Given the description of an element on the screen output the (x, y) to click on. 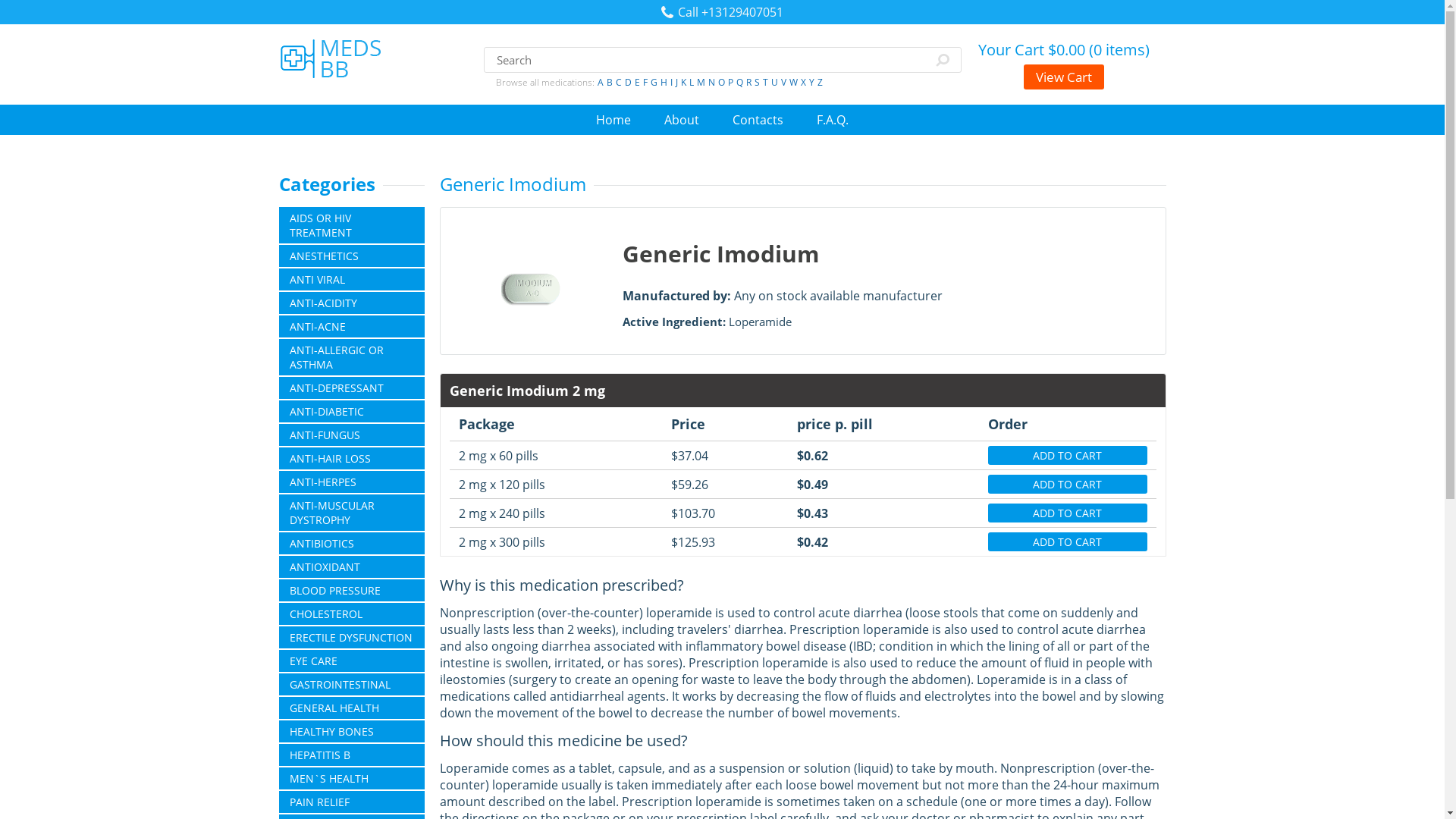
ANTI-ACIDITY (352, 302)
View Cart (1063, 76)
Contacts (757, 119)
F.A.Q. (832, 119)
AIDS OR HIV TREATMENT (352, 225)
About (680, 119)
ANESTHETICS (352, 255)
ANTI VIRAL (352, 279)
Home (612, 119)
